Given the description of an element on the screen output the (x, y) to click on. 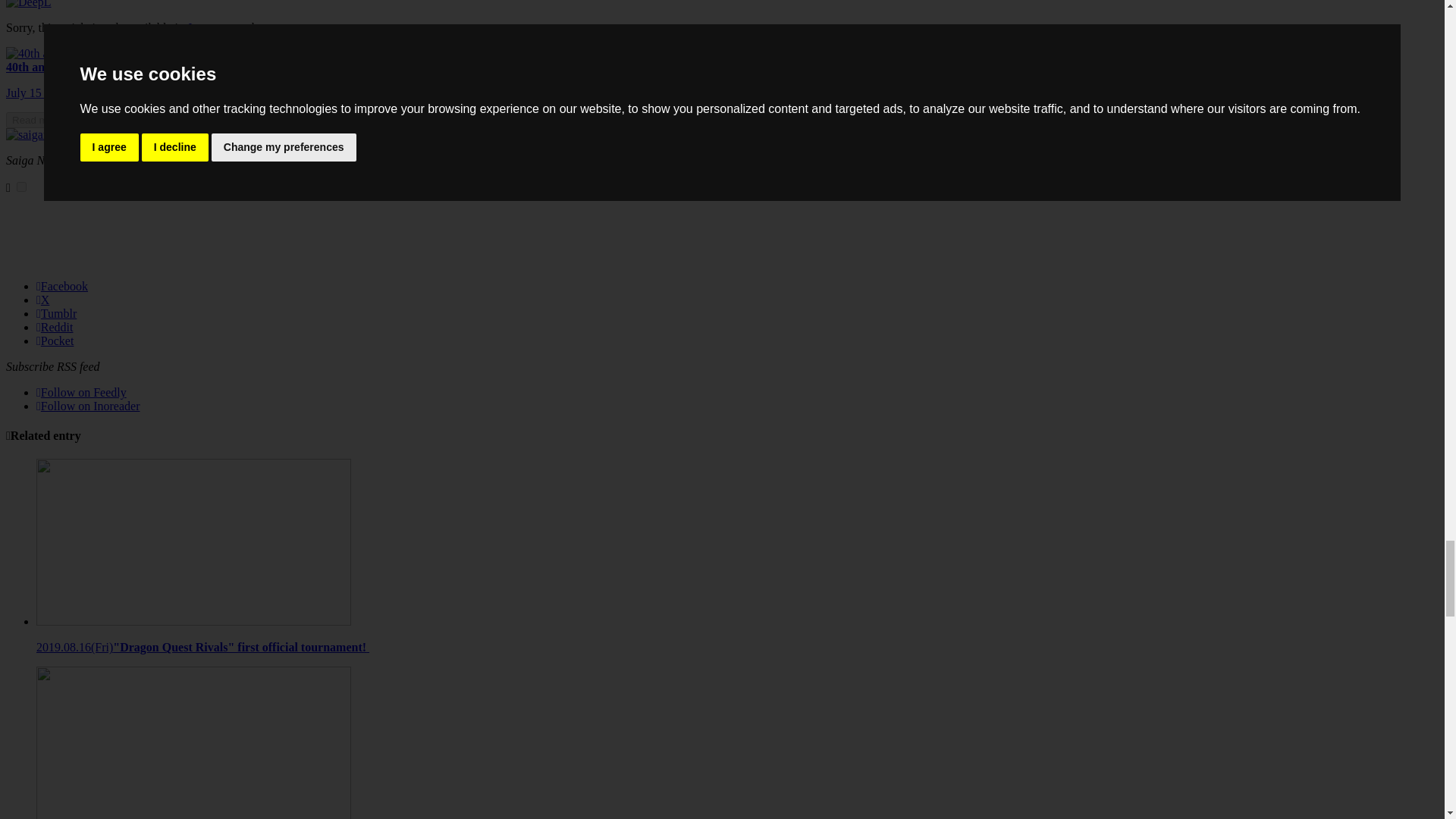
X (42, 299)
Event (144, 160)
Facebook (61, 286)
Japanese (208, 27)
Tumblr (56, 313)
Read more (36, 119)
on (21, 186)
